Given the description of an element on the screen output the (x, y) to click on. 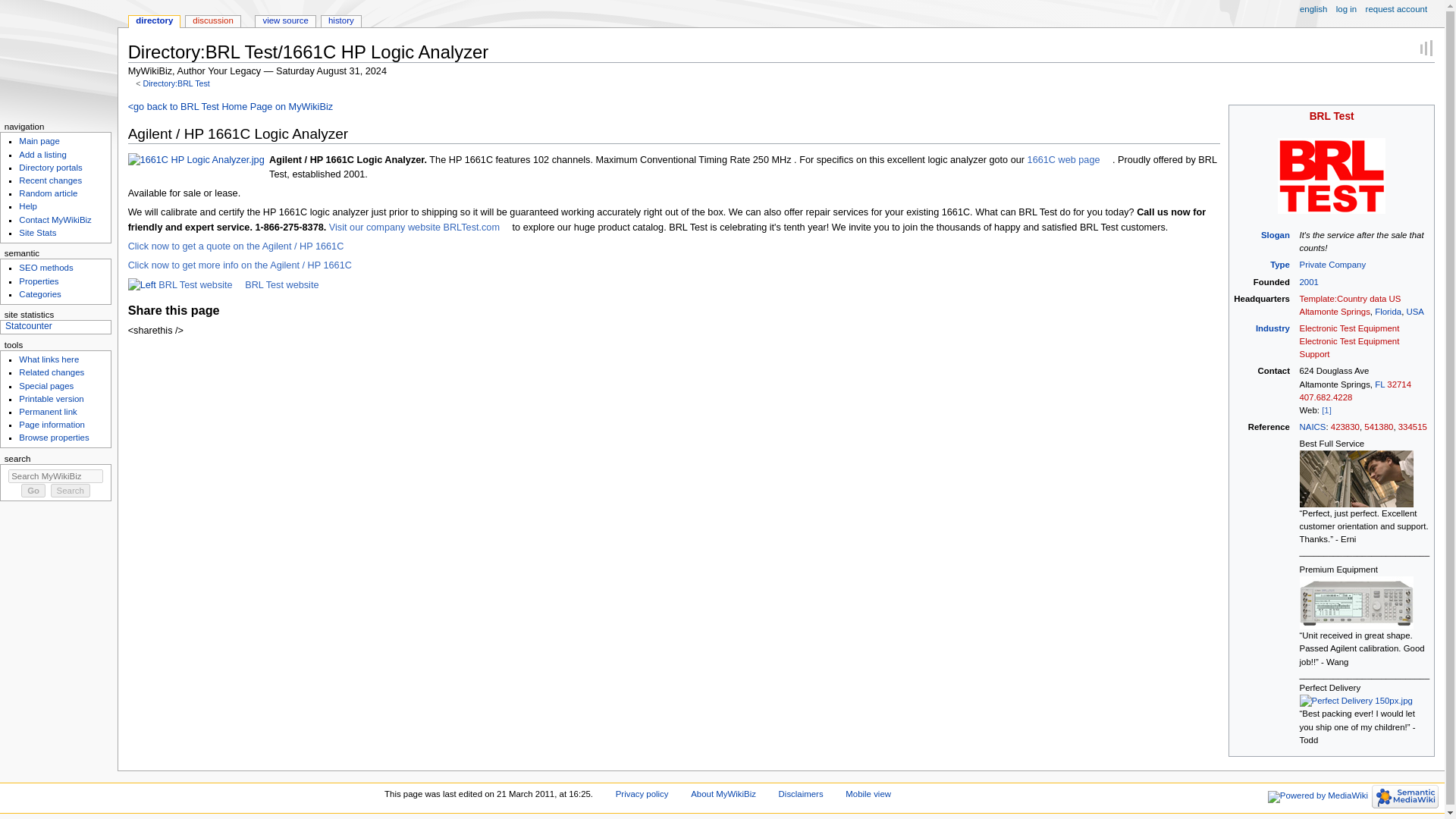
FL (1379, 384)
BRL Test (1331, 116)
Florida (1387, 311)
Directory:BRL Test (175, 82)
Portal:List (1272, 327)
discussion (213, 21)
Electronic Test Equipment (1349, 327)
Altamonte Springs (1335, 311)
Florida (1387, 311)
